Given the description of an element on the screen output the (x, y) to click on. 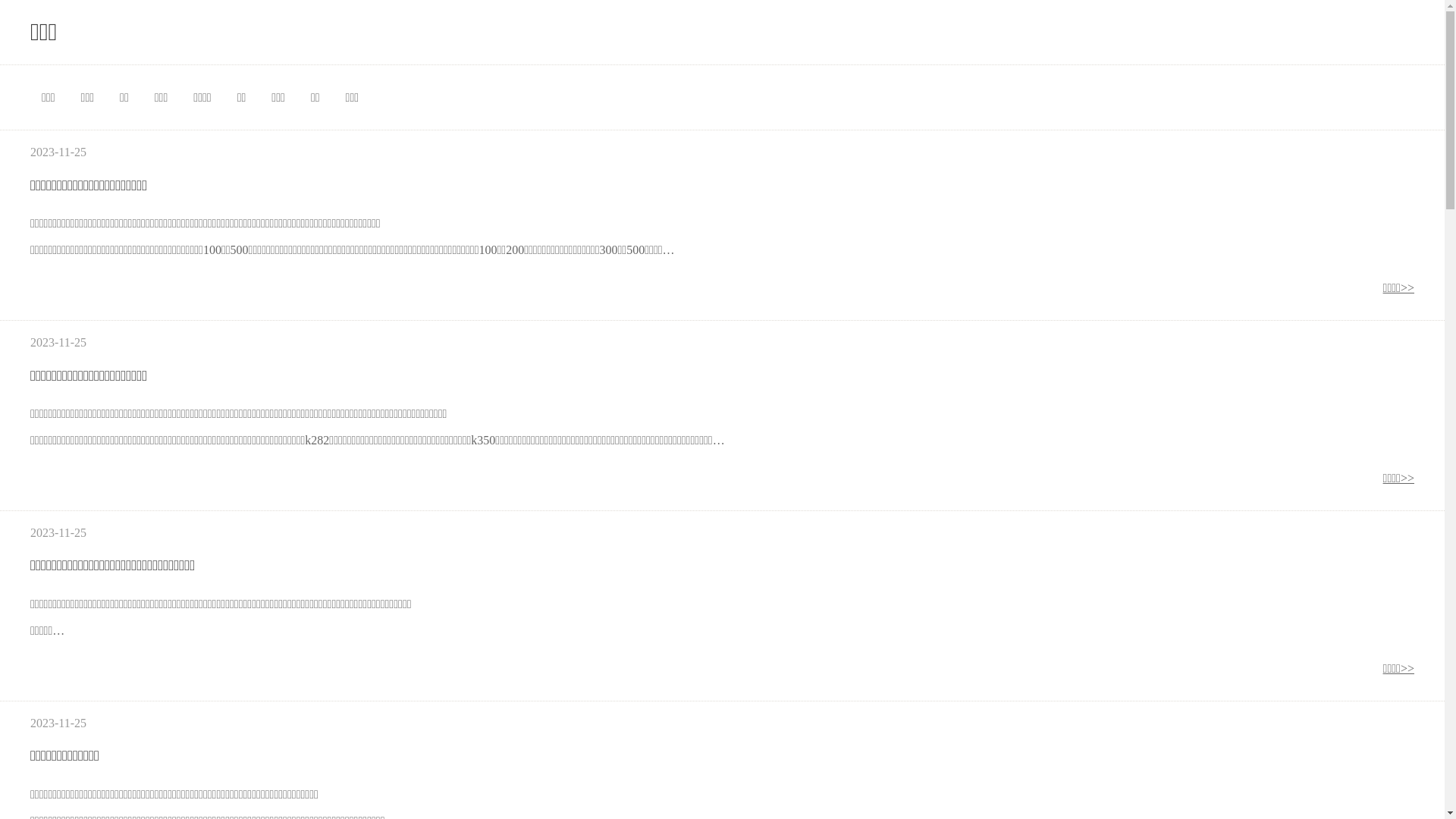
2023-11-25 Element type: text (58, 342)
2023-11-25 Element type: text (58, 722)
2023-11-25 Element type: text (58, 532)
2023-11-25 Element type: text (58, 151)
